Given the description of an element on the screen output the (x, y) to click on. 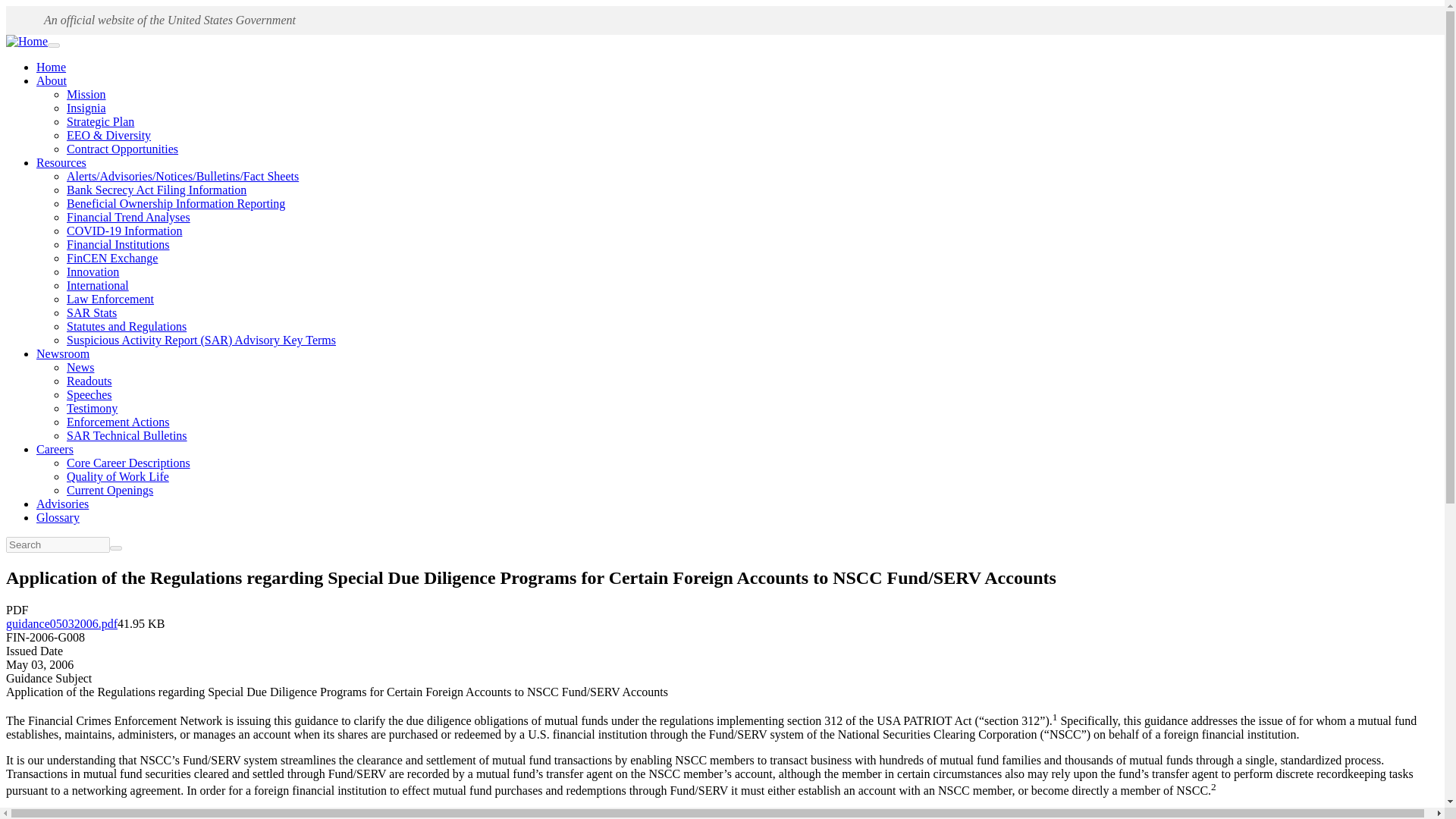
Beneficial Ownership Information Reporting (175, 203)
guidance05032006.pdf (61, 623)
Newsroom (62, 353)
Home (50, 66)
FinCEN's Innovation Page (92, 271)
Search (116, 548)
Current Openings (109, 490)
Statutes and Regulations (126, 326)
Advisories (62, 503)
Enter the terms you wish to search for. (57, 544)
